Given the description of an element on the screen output the (x, y) to click on. 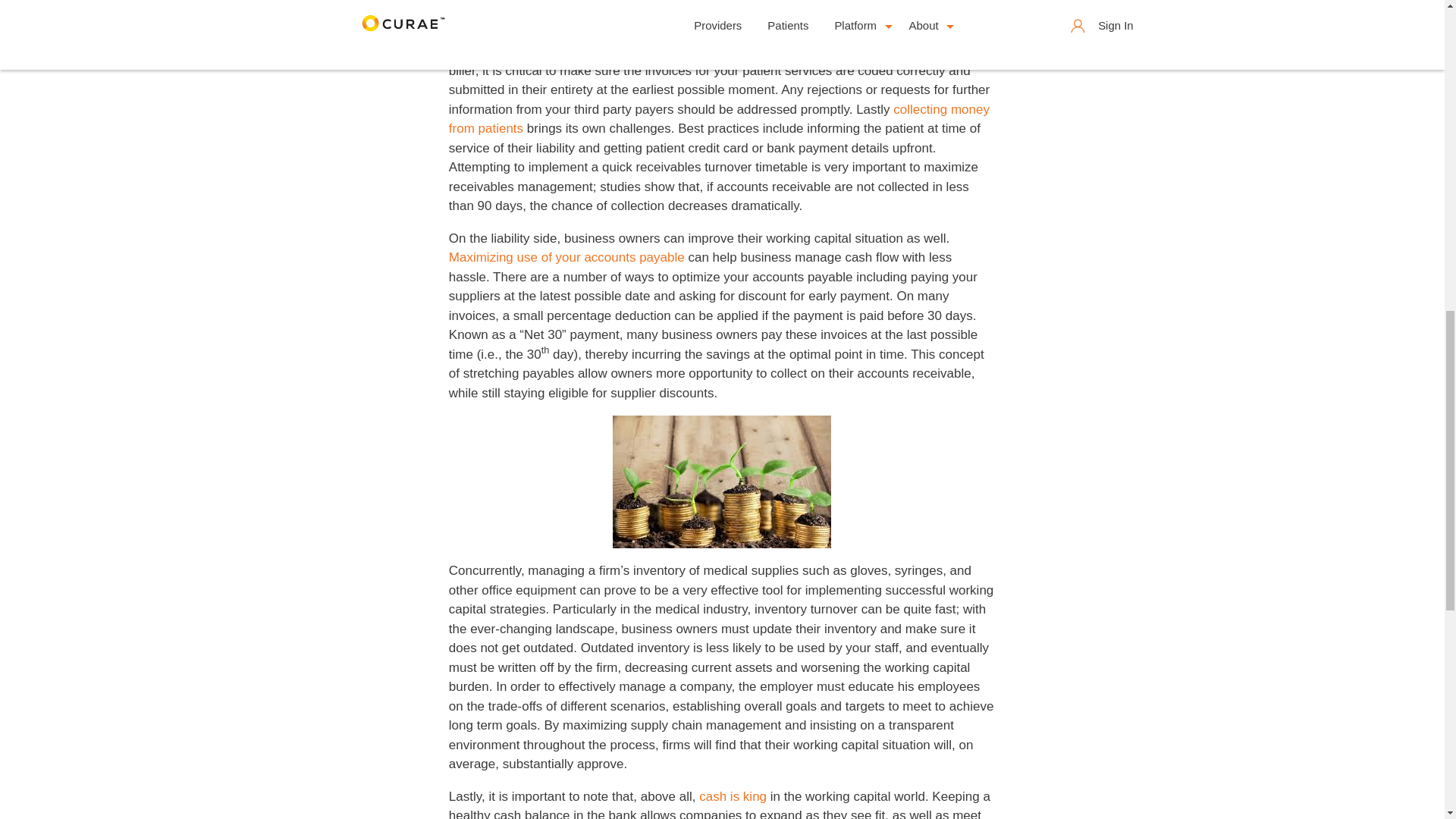
Maximizing use of your accounts payable (566, 257)
cash is king (732, 796)
collecting money from patients (719, 119)
